Given the description of an element on the screen output the (x, y) to click on. 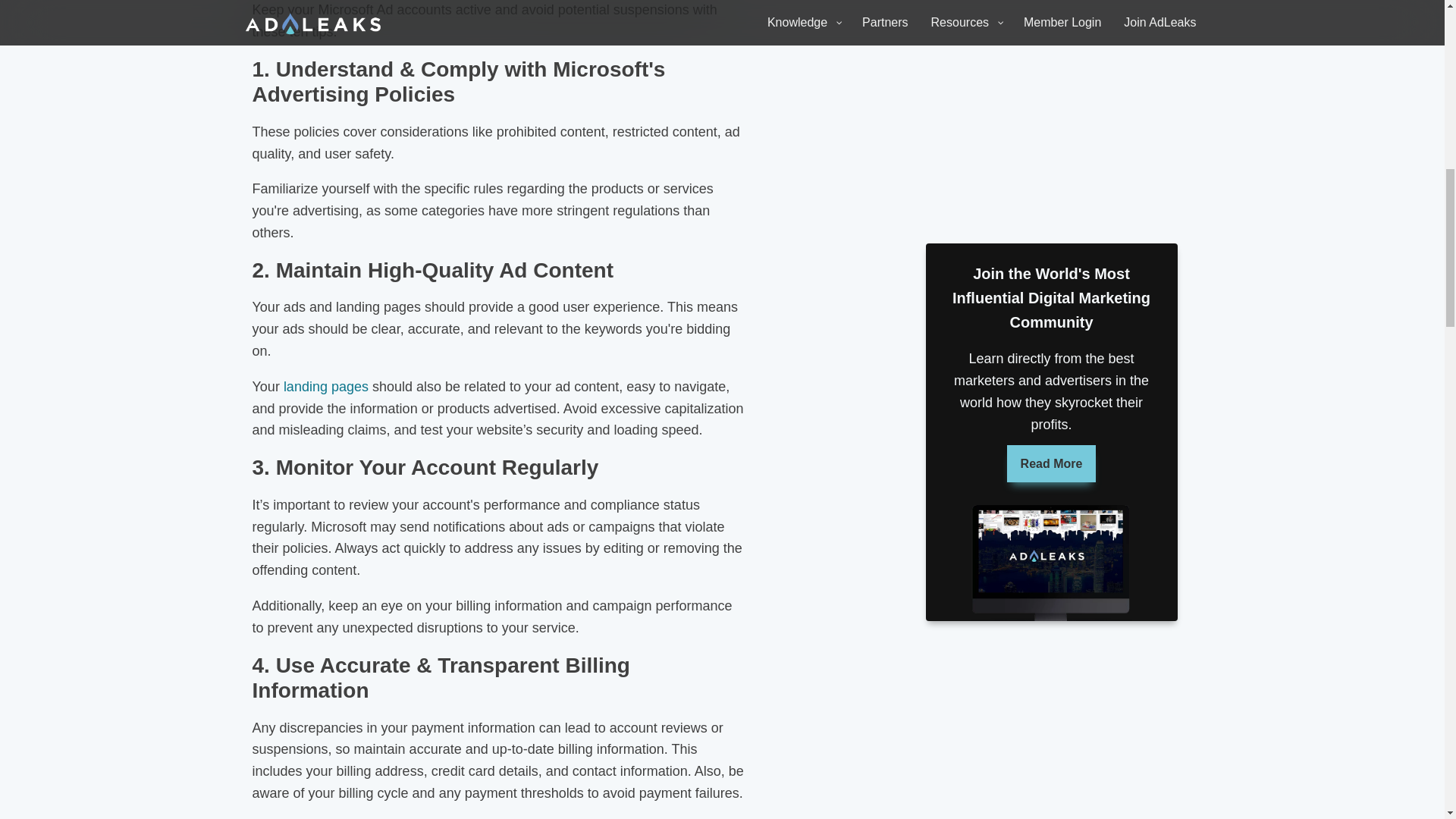
landing pages (325, 386)
